Given the description of an element on the screen output the (x, y) to click on. 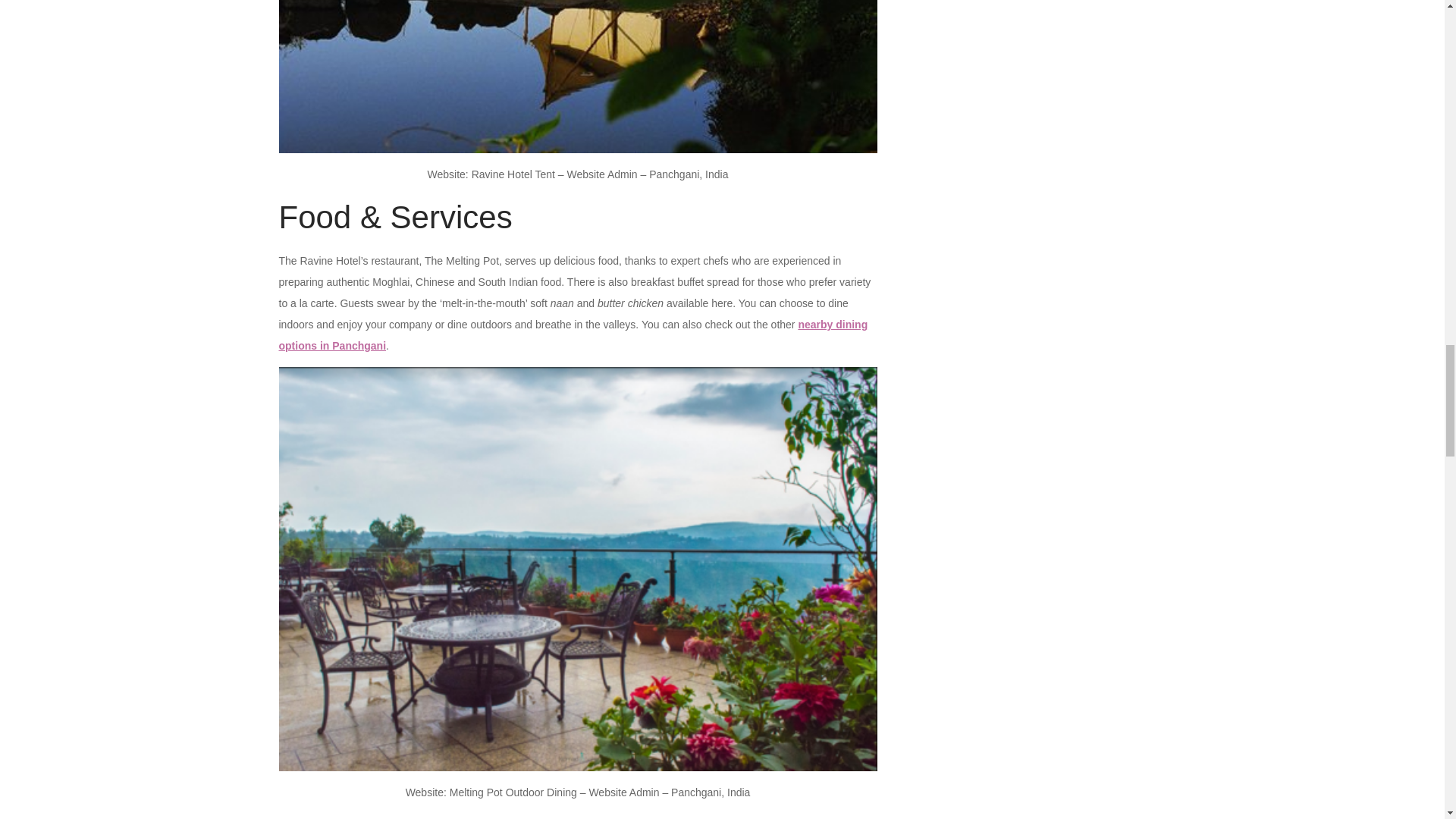
nearby dining options in Panchgani (573, 335)
